Given the description of an element on the screen output the (x, y) to click on. 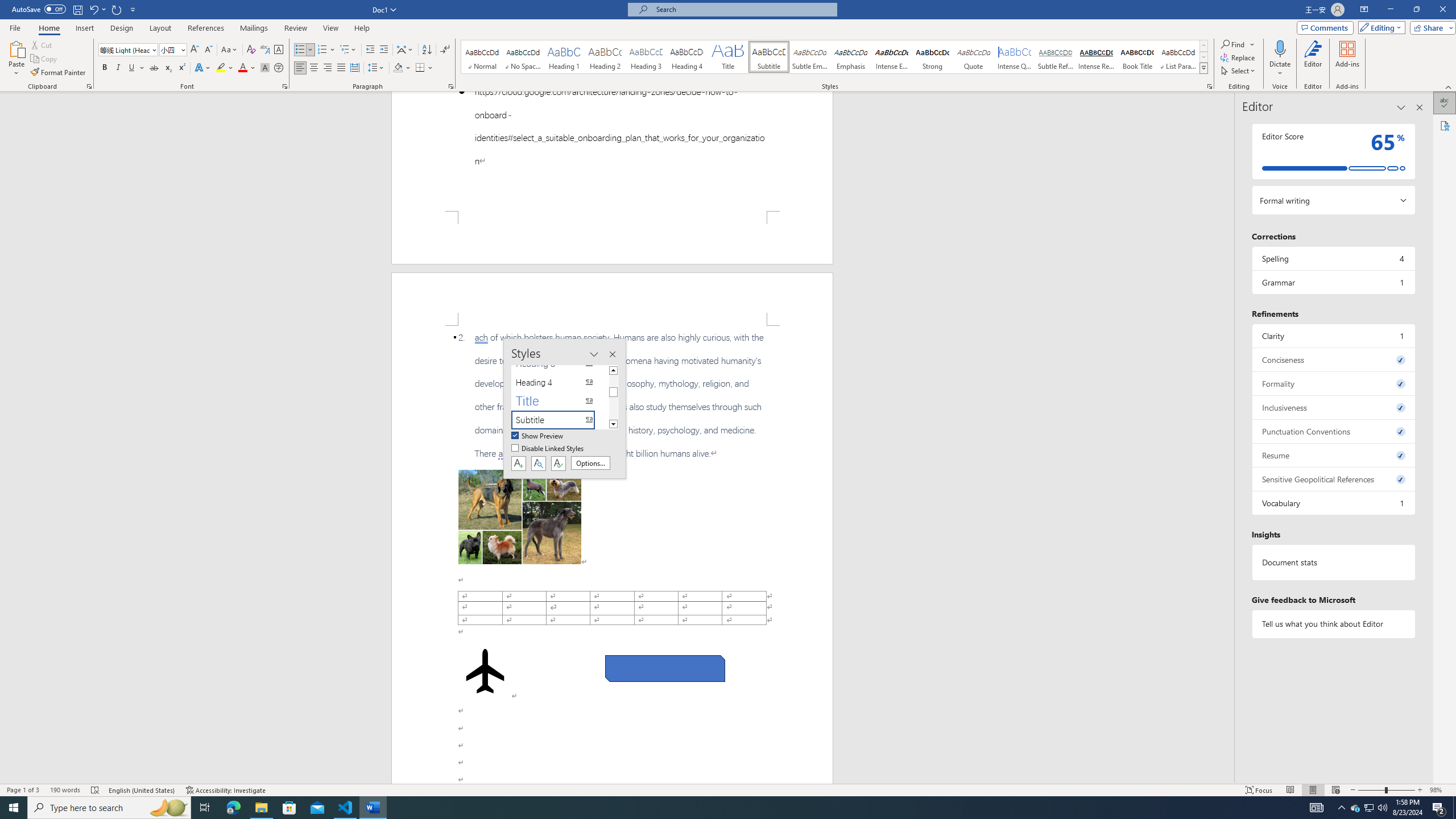
Undo Bullet Default (96, 9)
Bold (104, 67)
Justify (340, 67)
Character Border (278, 49)
Accessibility Checker Accessibility: Investigate (226, 790)
Decrease Indent (370, 49)
Copy (45, 58)
Vocabulary, 1 issue. Press space or enter to review items. (1333, 502)
Class: NetUIButton (558, 463)
